Given the description of an element on the screen output the (x, y) to click on. 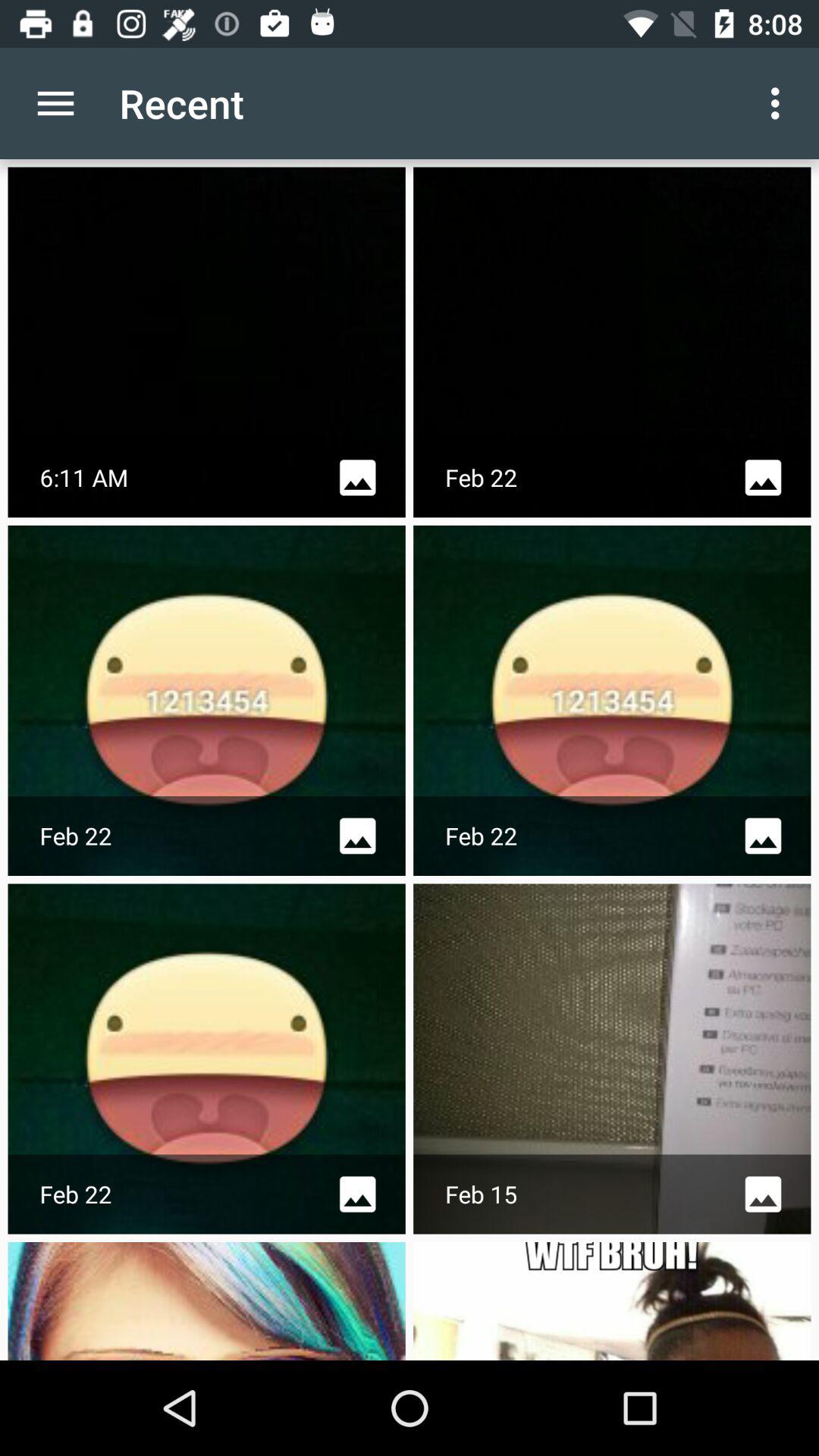
select item to the left of recent app (55, 103)
